Given the description of an element on the screen output the (x, y) to click on. 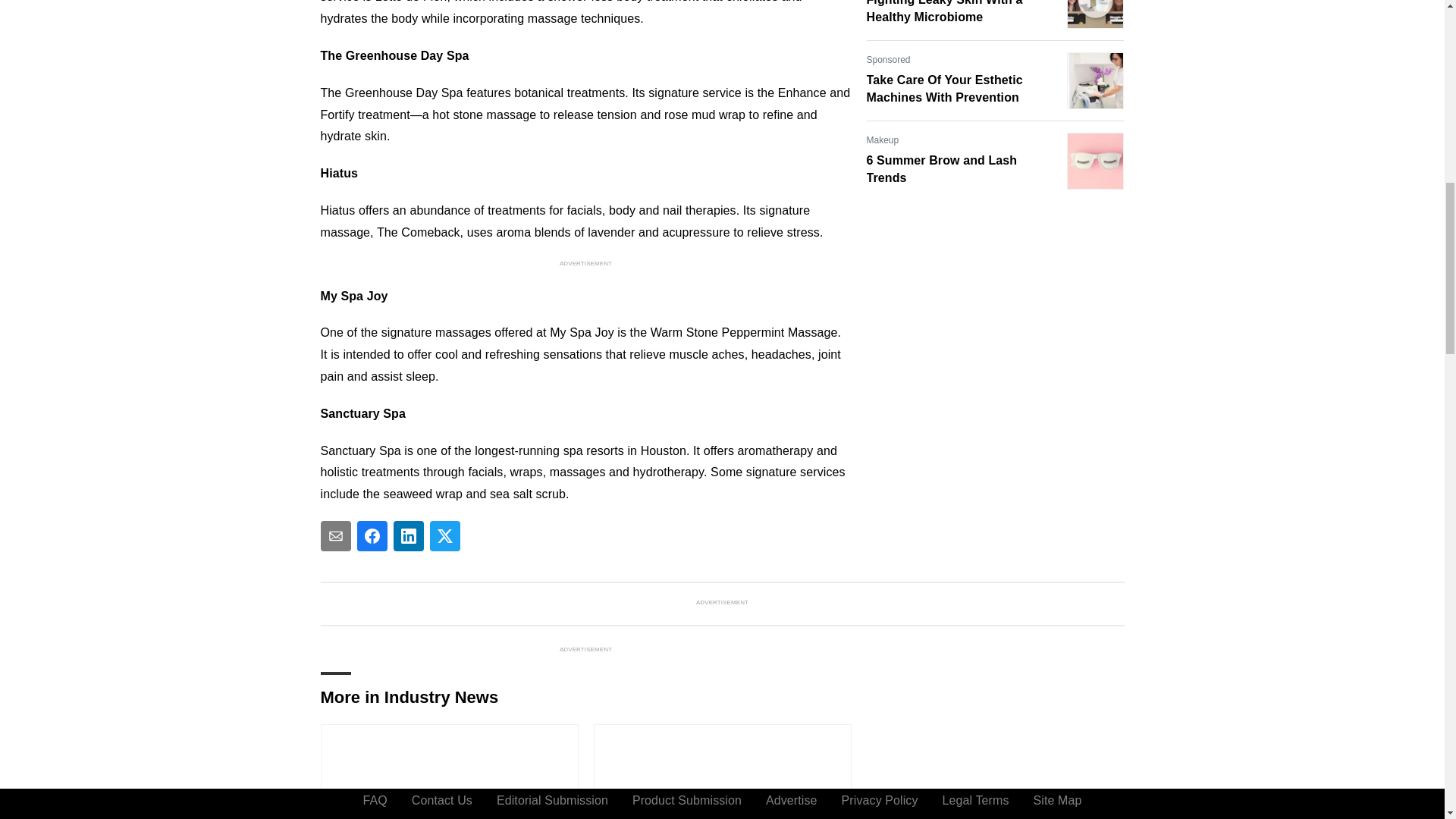
Share To twitter (444, 535)
Share To linkedin (408, 535)
Share To facebook (371, 535)
Share To email (335, 535)
Sponsored (888, 59)
